Given the description of an element on the screen output the (x, y) to click on. 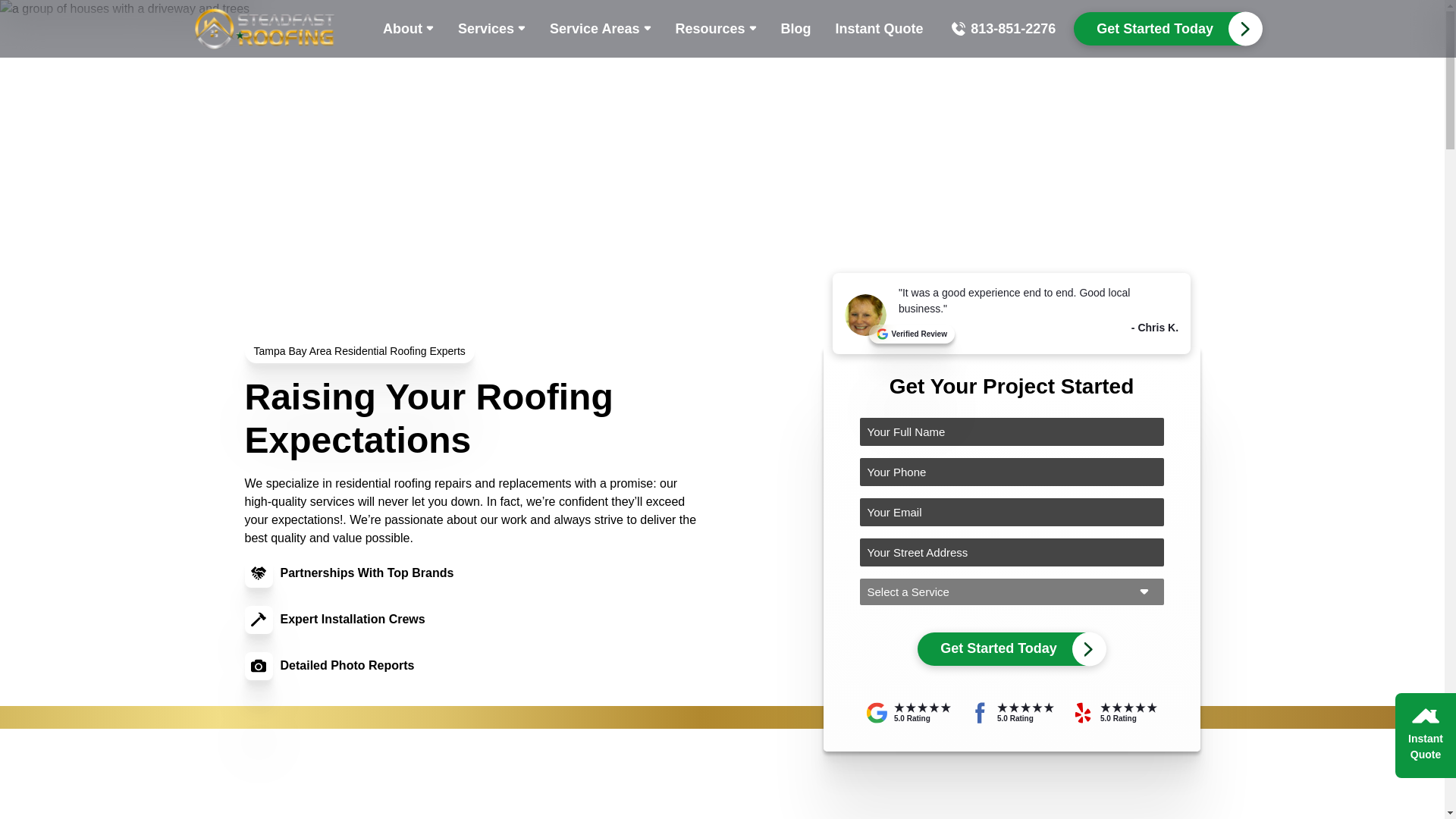
Resources (715, 28)
About (408, 28)
Service Areas (599, 28)
Blog (796, 28)
Services (491, 28)
Instant Quote (880, 28)
